Given the description of an element on the screen output the (x, y) to click on. 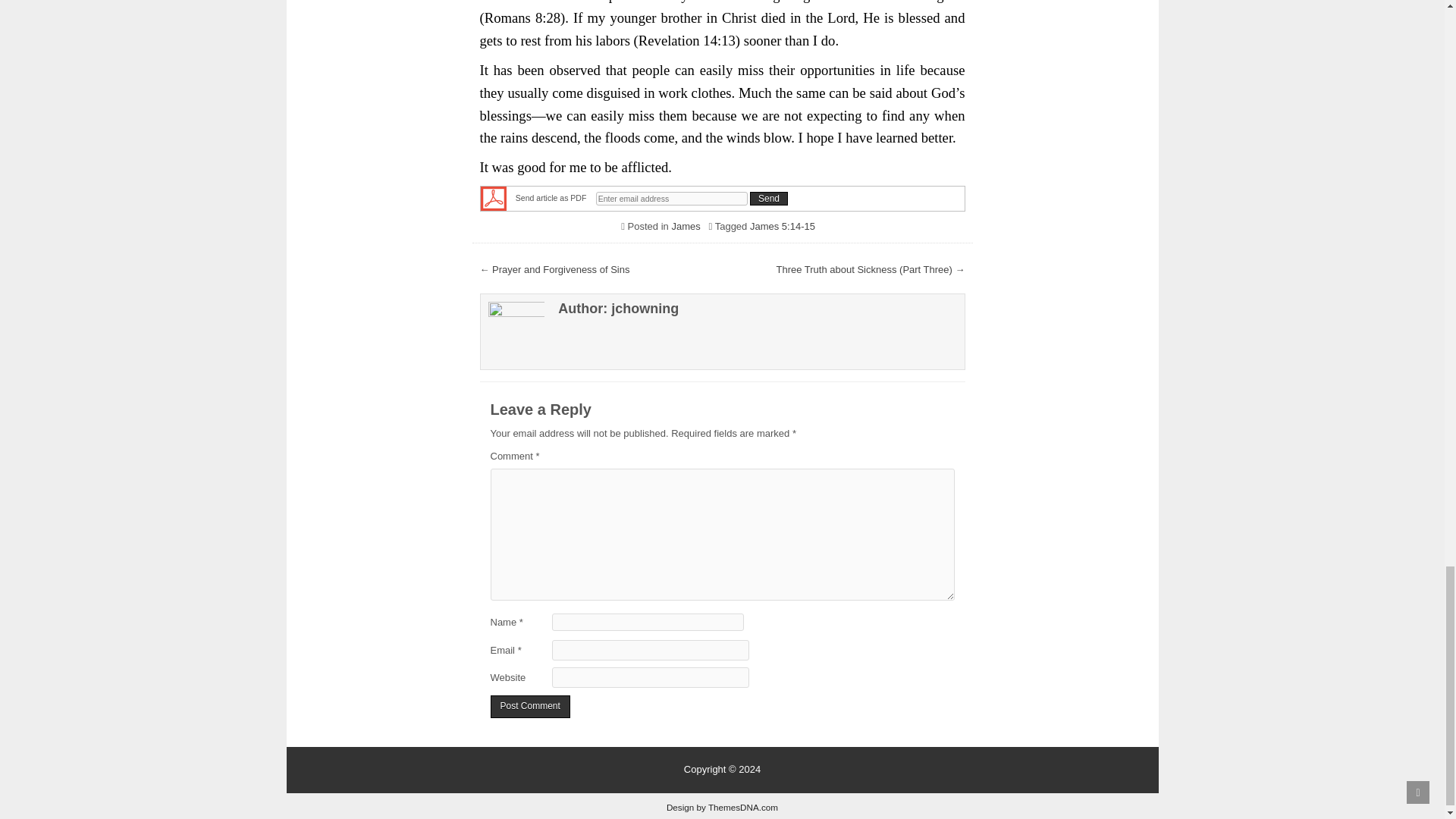
www.pdf24.org (493, 197)
Post Comment (529, 707)
James (685, 225)
James 5:14-15 (782, 225)
Design by ThemesDNA.com (721, 807)
Send (768, 198)
Post Comment (529, 707)
Send (768, 198)
